Given the description of an element on the screen output the (x, y) to click on. 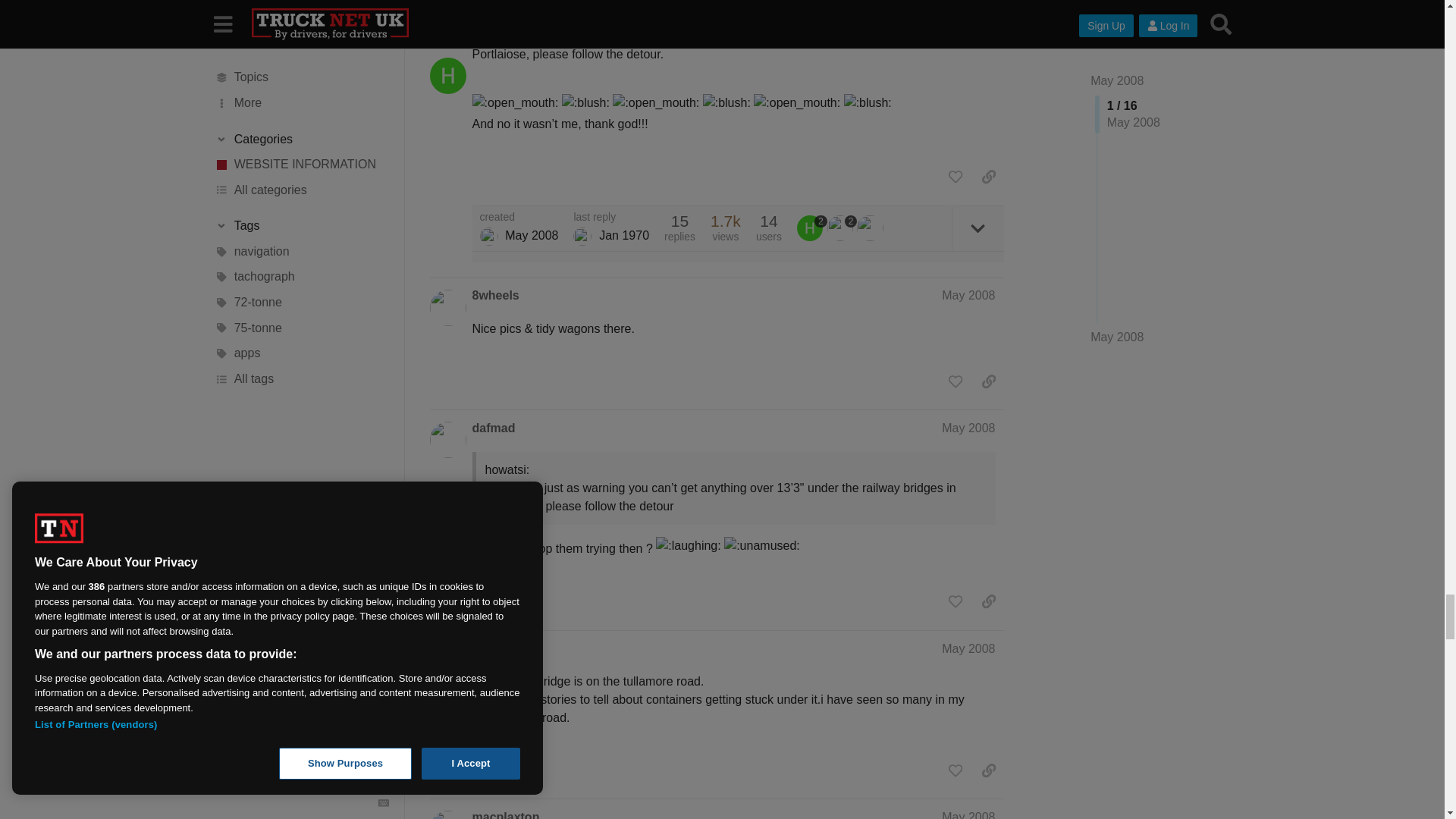
2 (811, 227)
2 (842, 227)
last reply (611, 217)
